Given the description of an element on the screen output the (x, y) to click on. 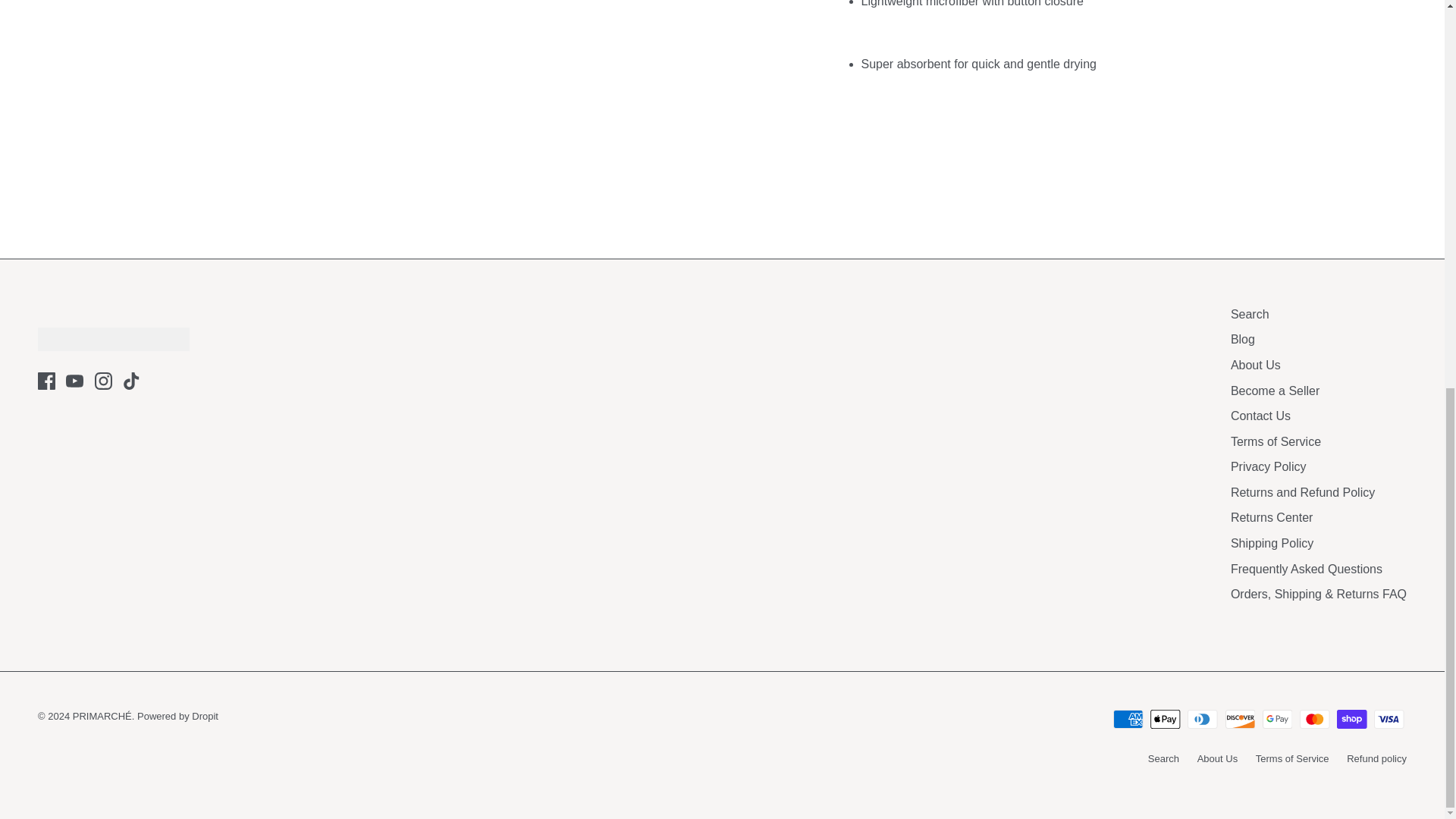
Facebook (46, 380)
Youtube (73, 380)
Discover (1240, 719)
Google Pay (1277, 719)
Diners Club (1202, 719)
Apple Pay (1165, 719)
Visa (1388, 719)
Dropit shopping. Unifying retail (177, 715)
American Express (1127, 719)
Mastercard (1314, 719)
